Given the description of an element on the screen output the (x, y) to click on. 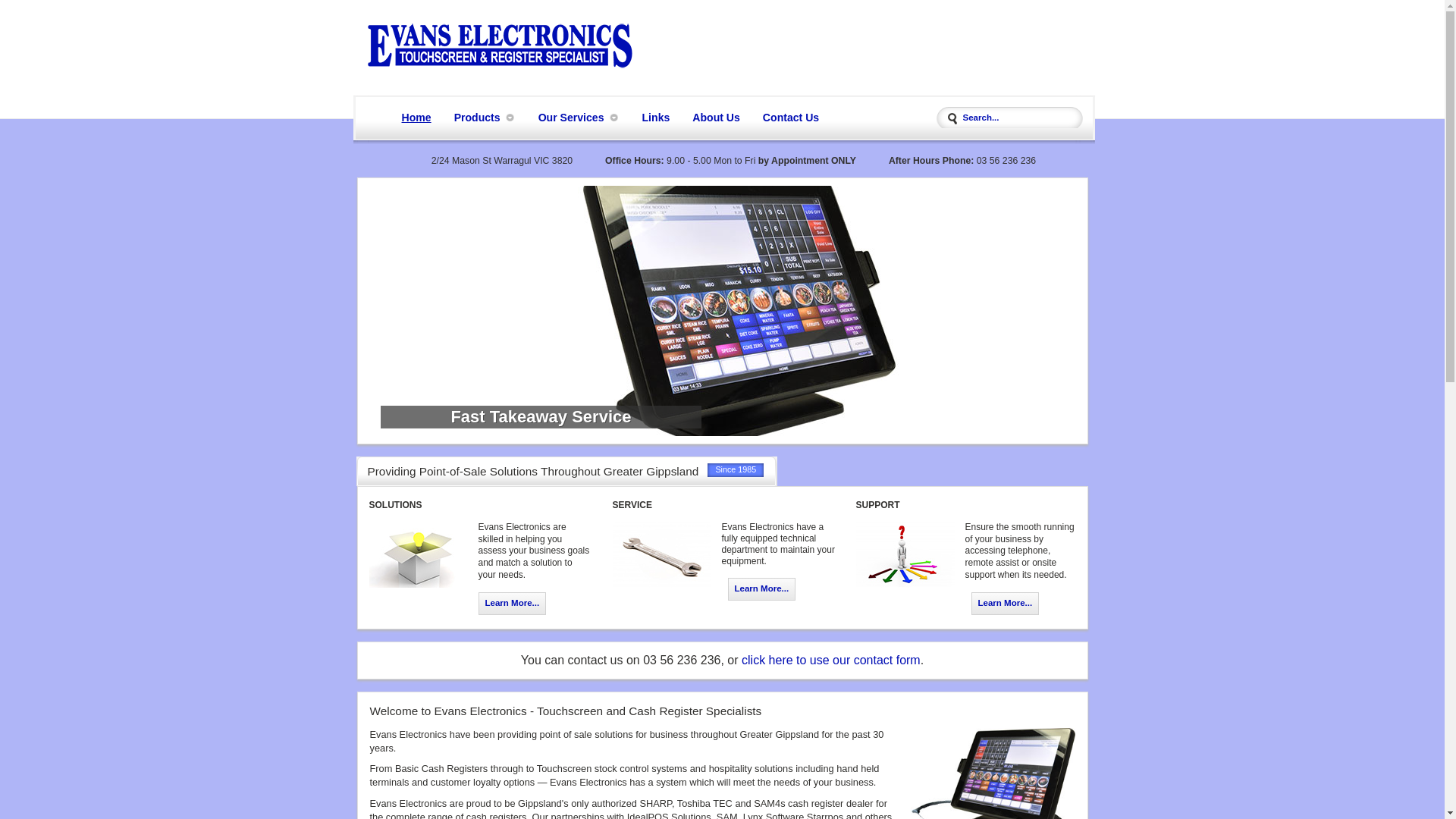
Our Services Element type: text (572, 117)
open image Element type: hover (721, 309)
About Us Element type: text (715, 117)
Links Element type: text (655, 117)
Products Element type: text (478, 117)
Home Element type: text (416, 117)
click here to use our contact form Element type: text (830, 659)
Learn More... Element type: text (762, 588)
Learn More... Element type: text (1004, 603)
Contact Us Element type: text (790, 117)
Learn More... Element type: text (511, 603)
